Given the description of an element on the screen output the (x, y) to click on. 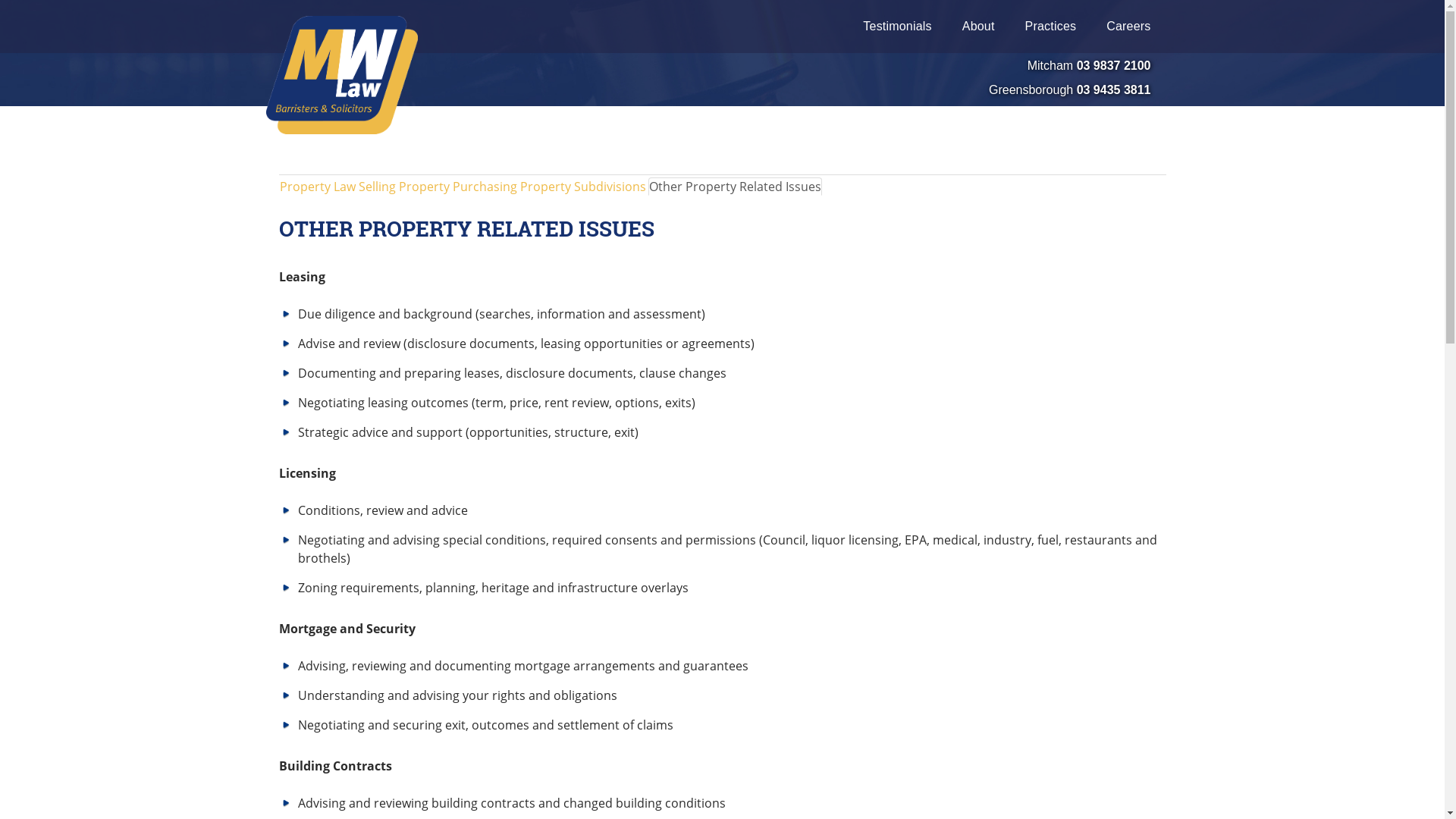
Other Property Related Issues Element type: text (734, 186)
Subdivisions Element type: text (609, 186)
Property Law Element type: text (317, 186)
About Element type: text (978, 26)
Selling Property Element type: text (403, 186)
Careers Element type: text (1128, 26)
Purchasing Property Element type: text (511, 186)
Testimonials Element type: text (896, 26)
Practices Element type: text (1051, 26)
